Given the description of an element on the screen output the (x, y) to click on. 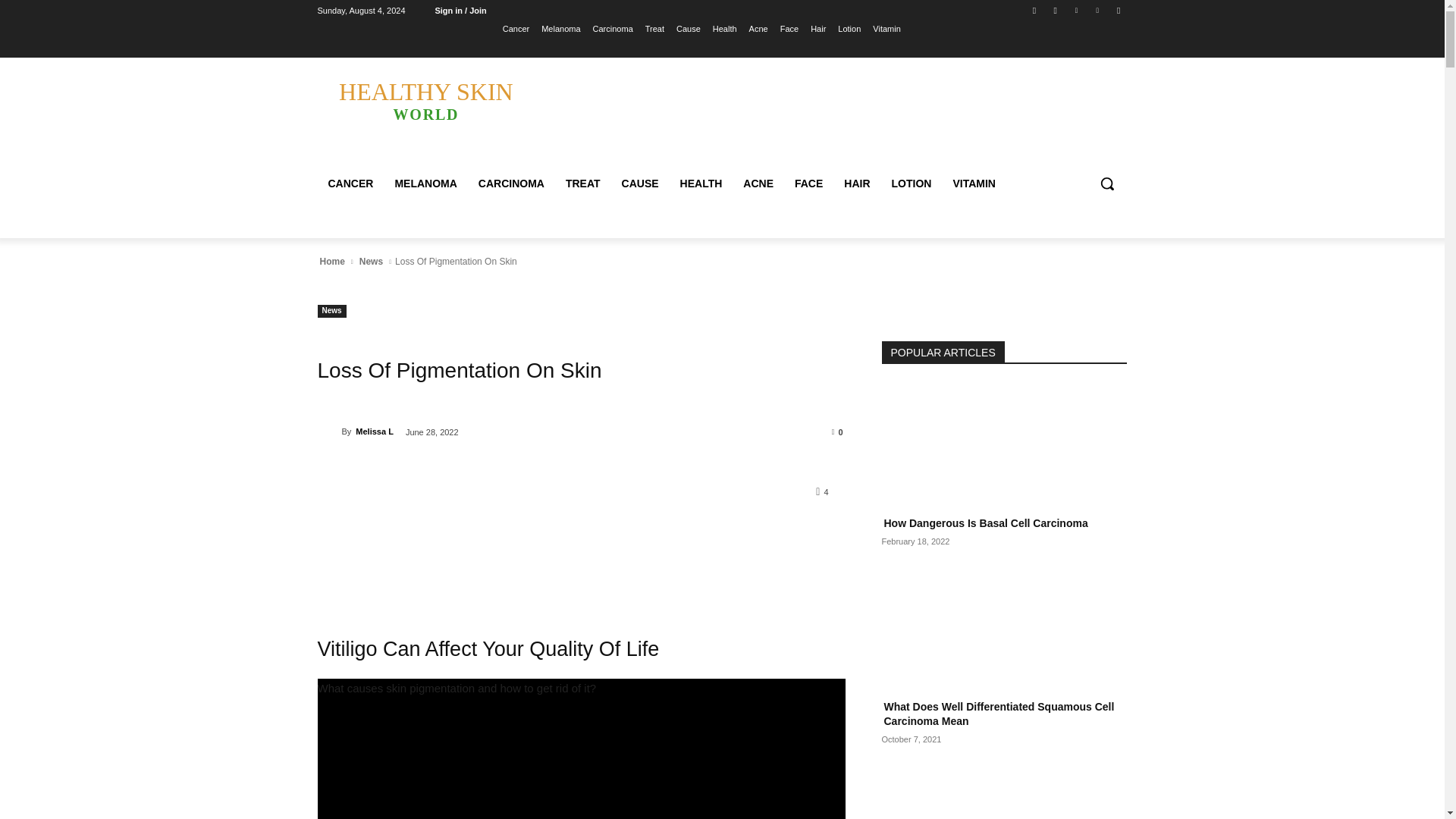
Lotion (849, 28)
Twitter (1075, 9)
Youtube (1117, 9)
Melissa L (328, 431)
Carcinoma (612, 28)
Cancer (515, 28)
Cause (688, 28)
Melanoma (560, 28)
Instagram (1055, 9)
Treat (654, 28)
Vimeo (1097, 9)
Health (724, 28)
View all posts in News (370, 261)
Acne (758, 28)
Facebook (1034, 9)
